Given the description of an element on the screen output the (x, y) to click on. 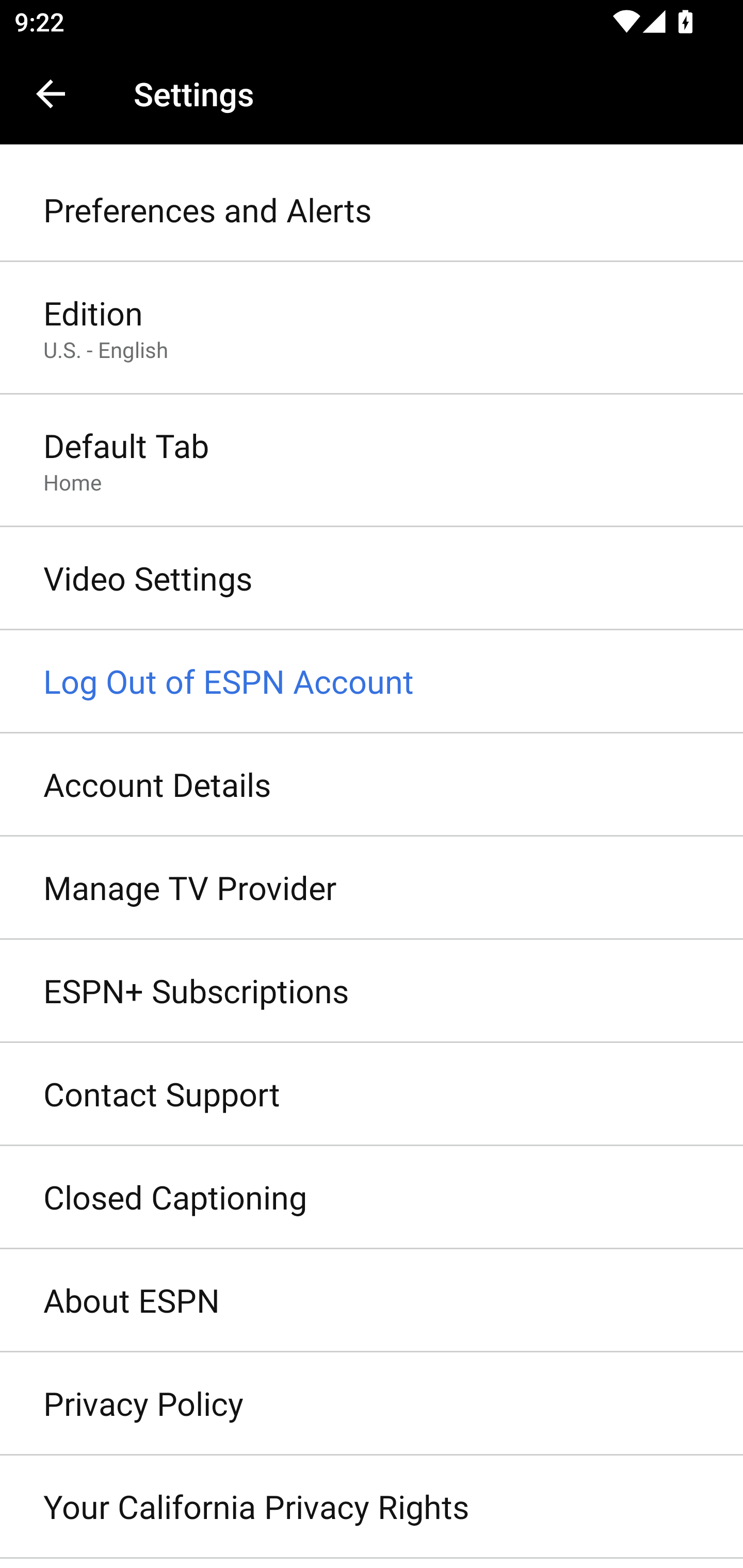
Navigate up (50, 93)
Preferences and Alerts (371, 209)
Edition U.S. - English (371, 328)
Default Tab Home (371, 461)
Video Settings (371, 578)
Log Out of ESPN Account (371, 681)
Account Details (371, 785)
Manage TV Provider (371, 888)
ESPN+ Subscriptions (371, 990)
Contact Support (371, 1094)
Closed Captioning (371, 1197)
About ESPN (371, 1301)
Privacy Policy (371, 1403)
Your California Privacy Rights (371, 1506)
